Given the description of an element on the screen output the (x, y) to click on. 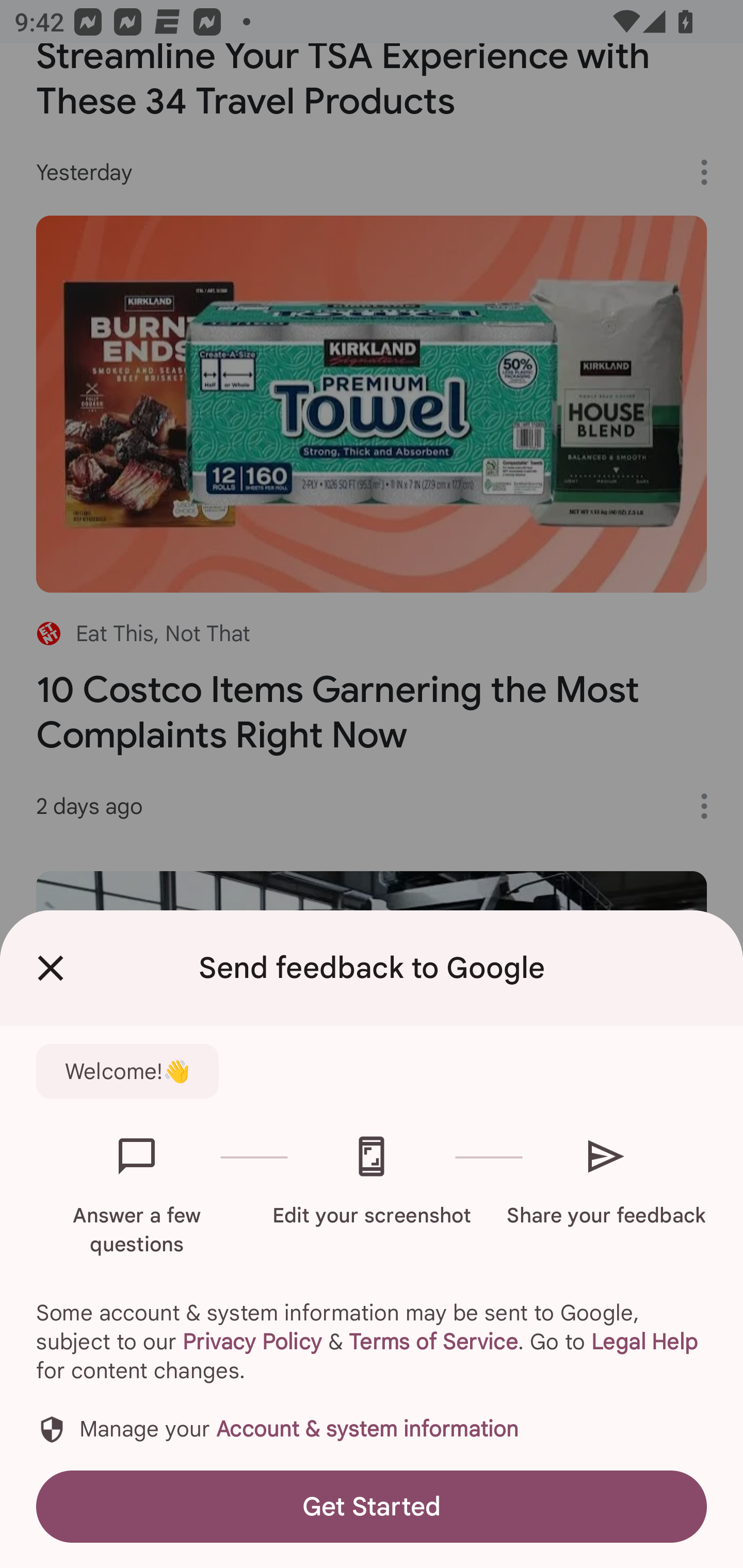
Close Feedback (50, 968)
Get Started (371, 1505)
